Given the description of an element on the screen output the (x, y) to click on. 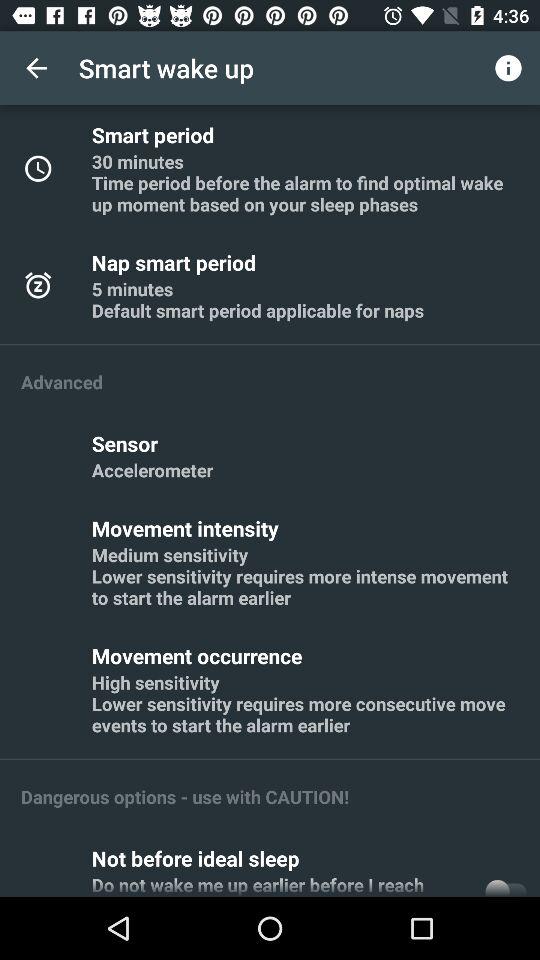
launch the dangerous options use item (185, 796)
